Given the description of an element on the screen output the (x, y) to click on. 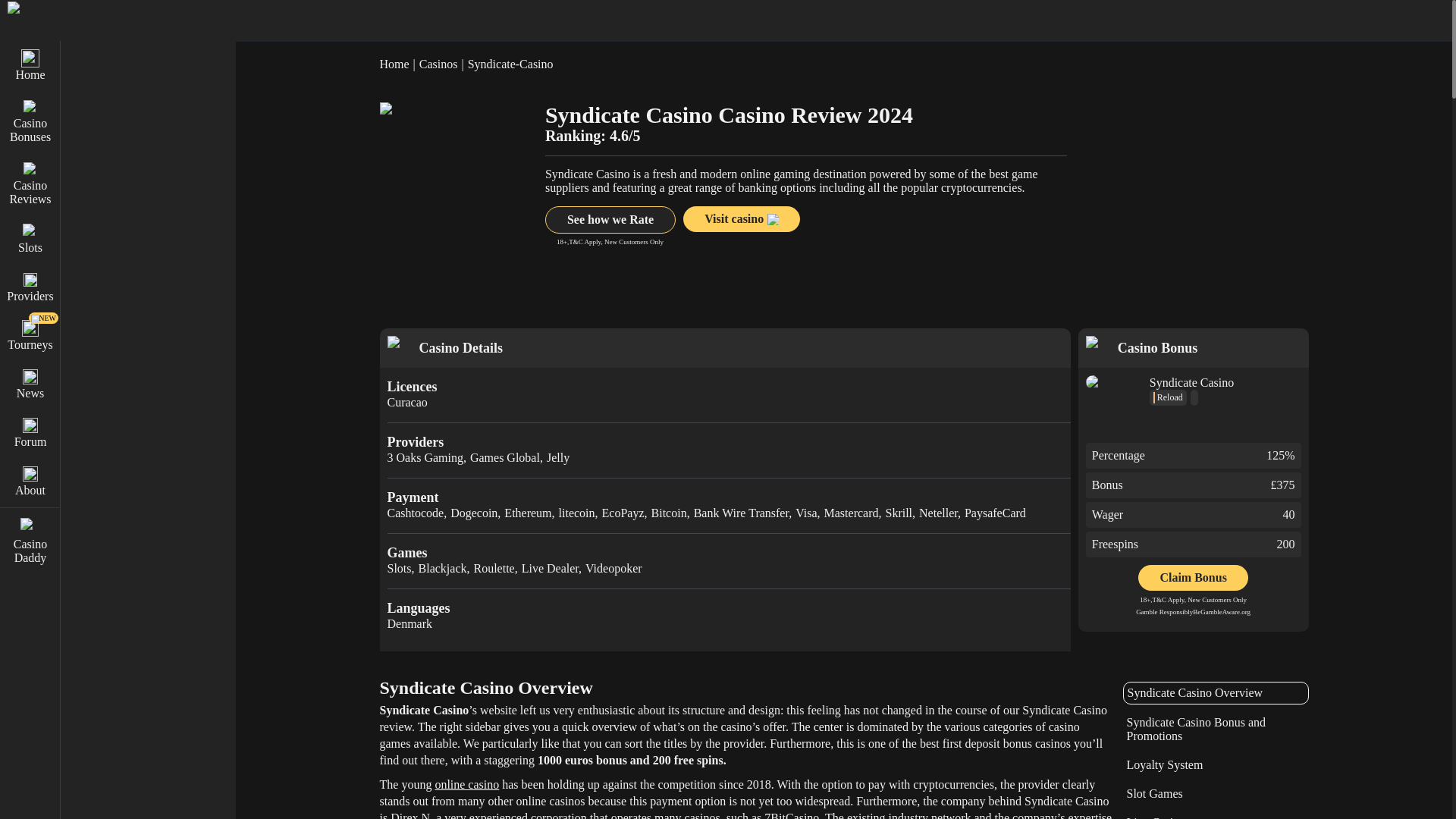
Casino Reviews (30, 182)
About (30, 480)
News (30, 383)
Providers (30, 286)
Casino Bonuses (30, 120)
Home (30, 64)
Casino Daddy (30, 541)
Tourneys (30, 335)
Forum (30, 431)
Slots (30, 237)
